Given the description of an element on the screen output the (x, y) to click on. 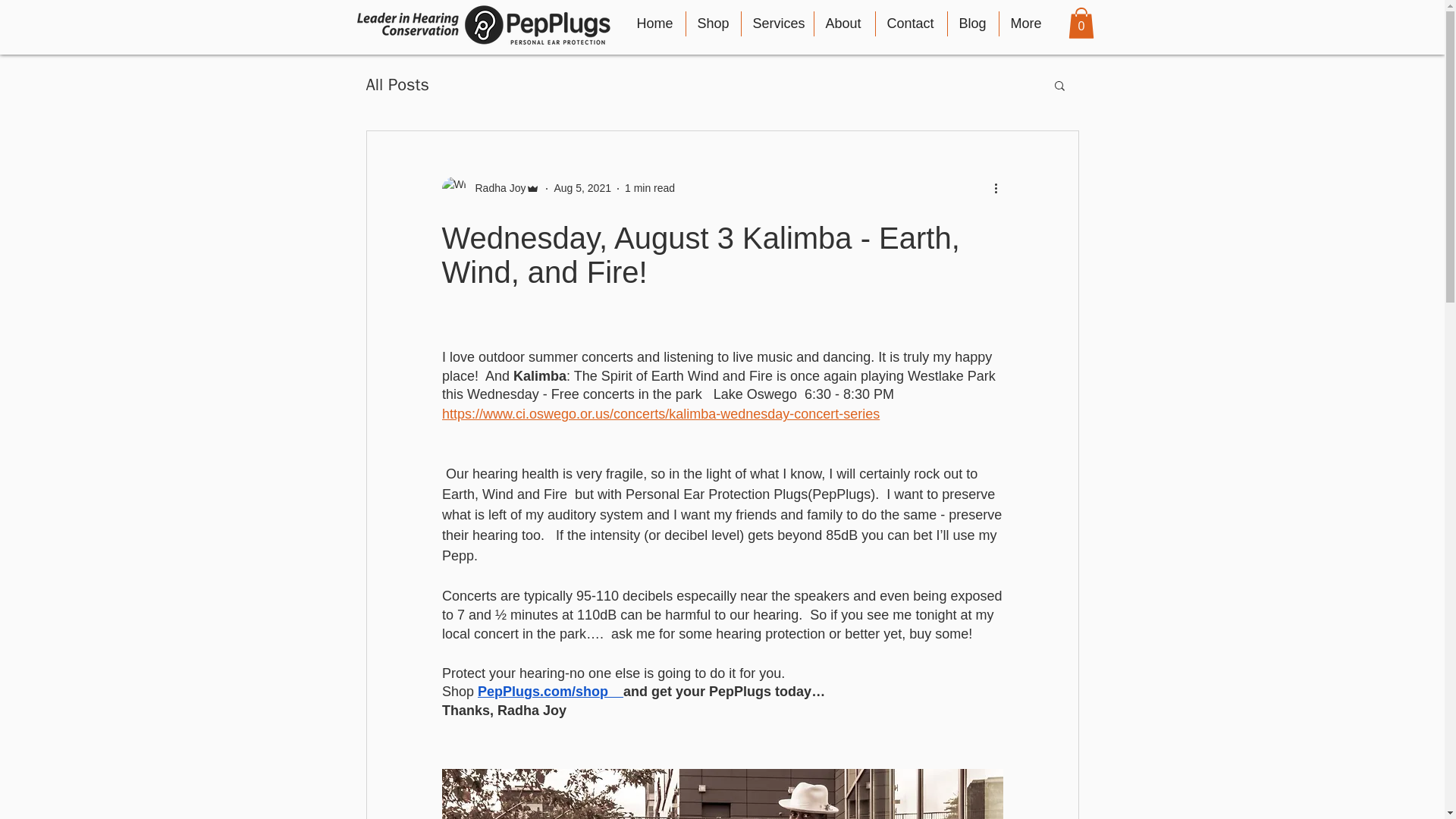
0 (1080, 22)
Blog (972, 23)
About (844, 23)
Services (777, 23)
Shop (712, 23)
Home (654, 23)
Contact (910, 23)
Radha  Joy (495, 188)
Aug 5, 2021 (582, 187)
Radha Joy (490, 188)
All Posts (397, 84)
1 min read (649, 187)
0 (1080, 22)
